Given the description of an element on the screen output the (x, y) to click on. 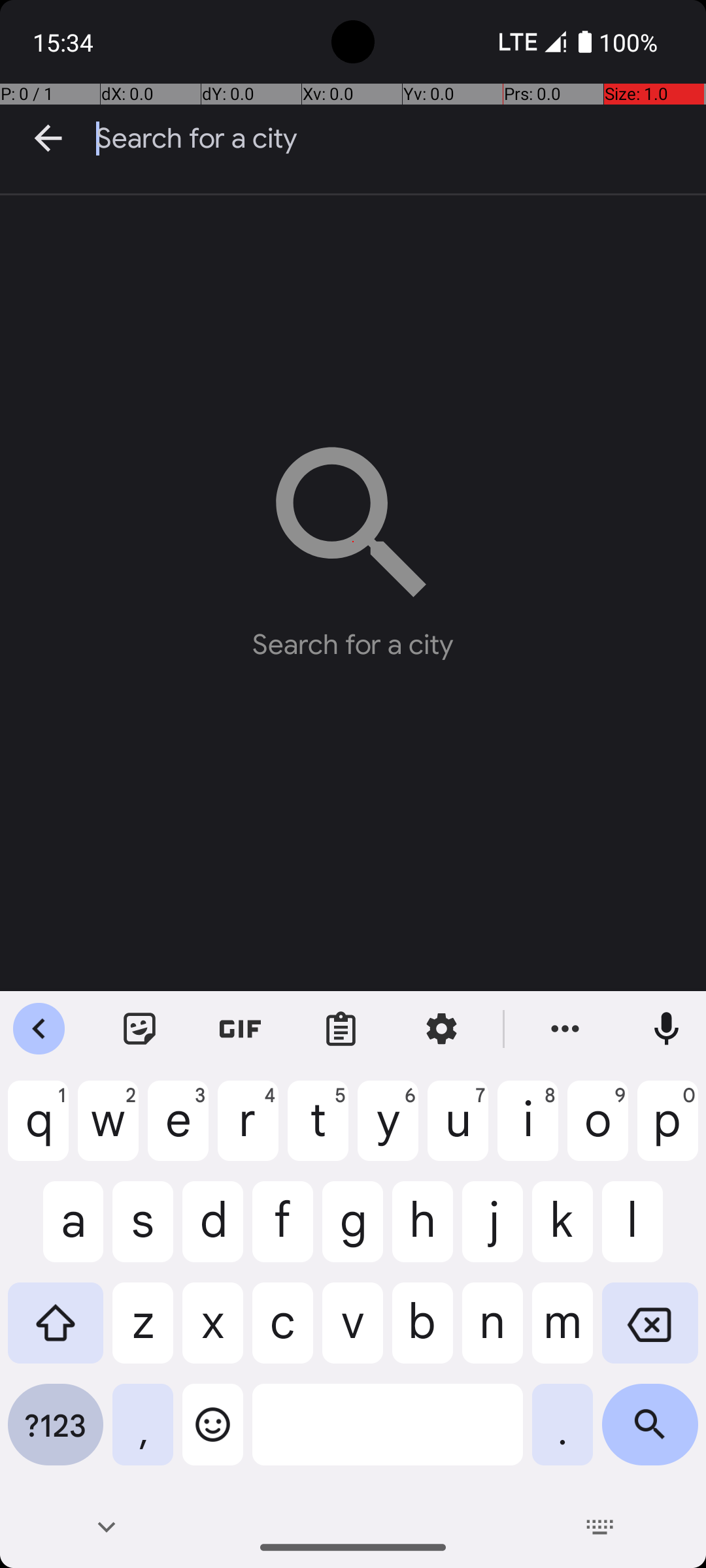
Search for a city Element type: android.widget.EditText (401, 138)
